Given the description of an element on the screen output the (x, y) to click on. 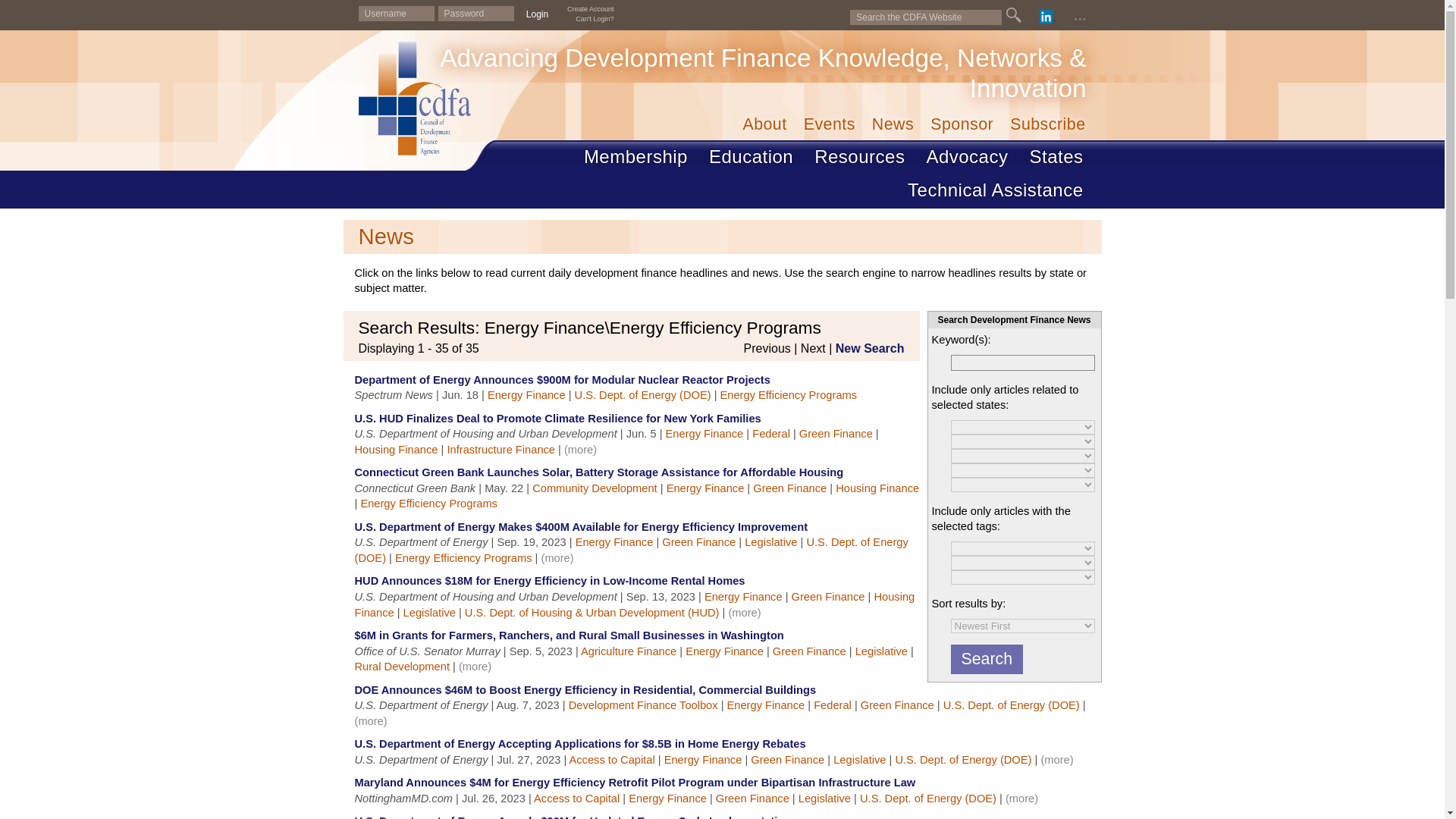
Search (986, 659)
LinkedIn (1048, 16)
Create Account (590, 8)
Login (536, 13)
Can't Login? (593, 18)
